Given the description of an element on the screen output the (x, y) to click on. 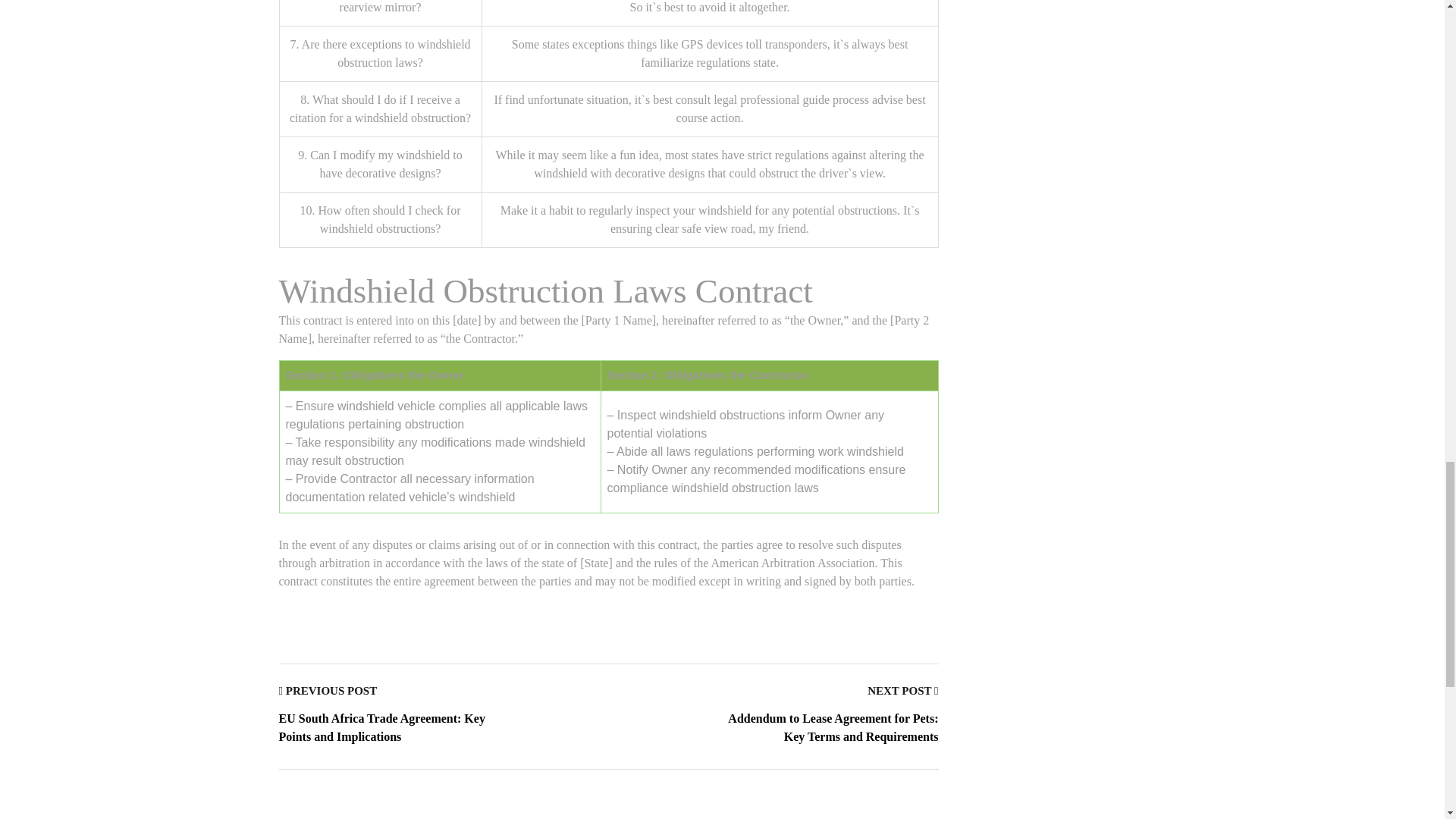
NEXT POST (902, 690)
PREVIOUS POST (328, 690)
EU South Africa Trade Agreement: Key Points and Implications (381, 726)
